Given the description of an element on the screen output the (x, y) to click on. 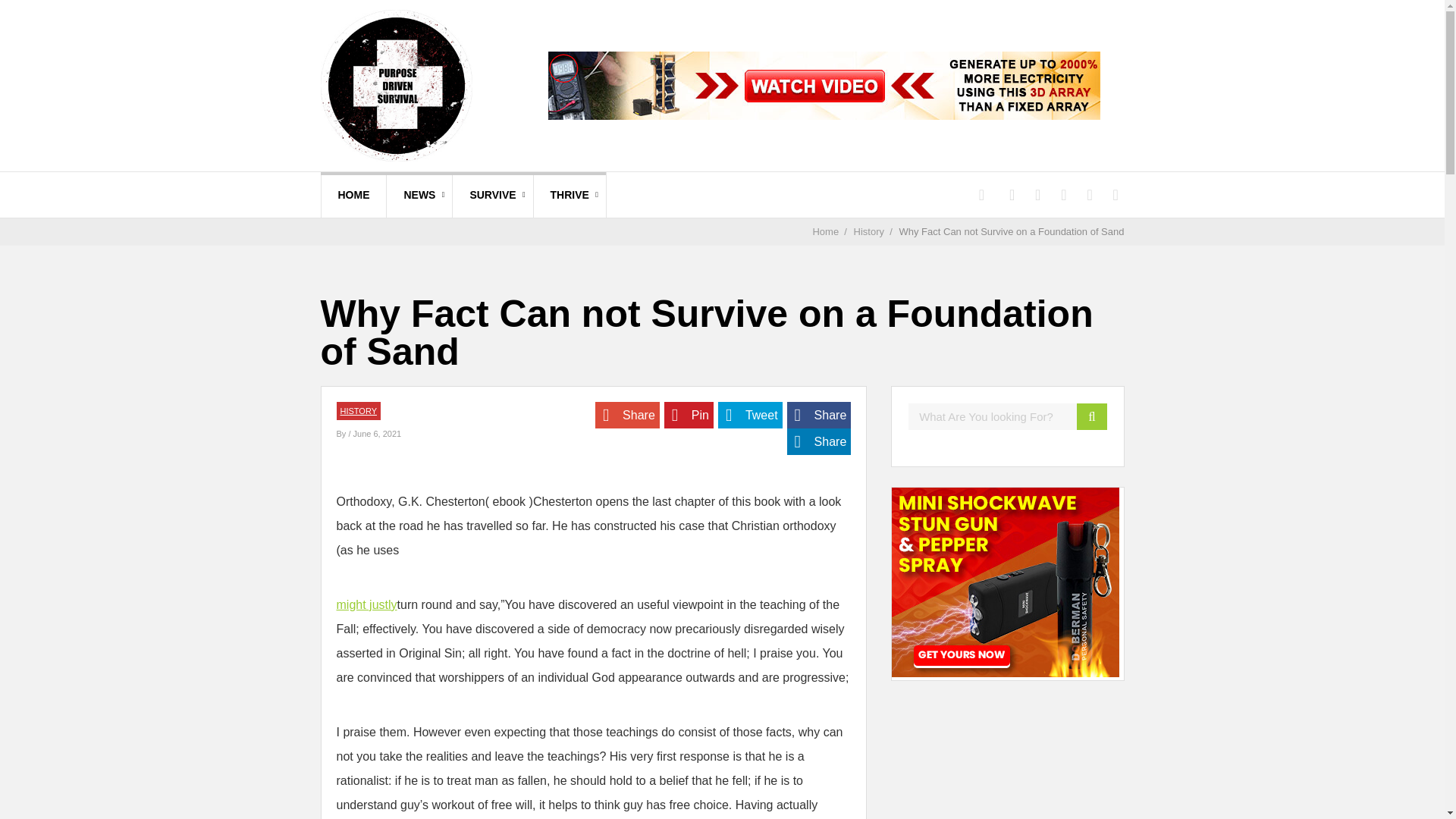
HISTORY (358, 410)
THRIVE (569, 194)
SURVIVE (492, 194)
HOME (354, 194)
NEWS (419, 194)
